Given the description of an element on the screen output the (x, y) to click on. 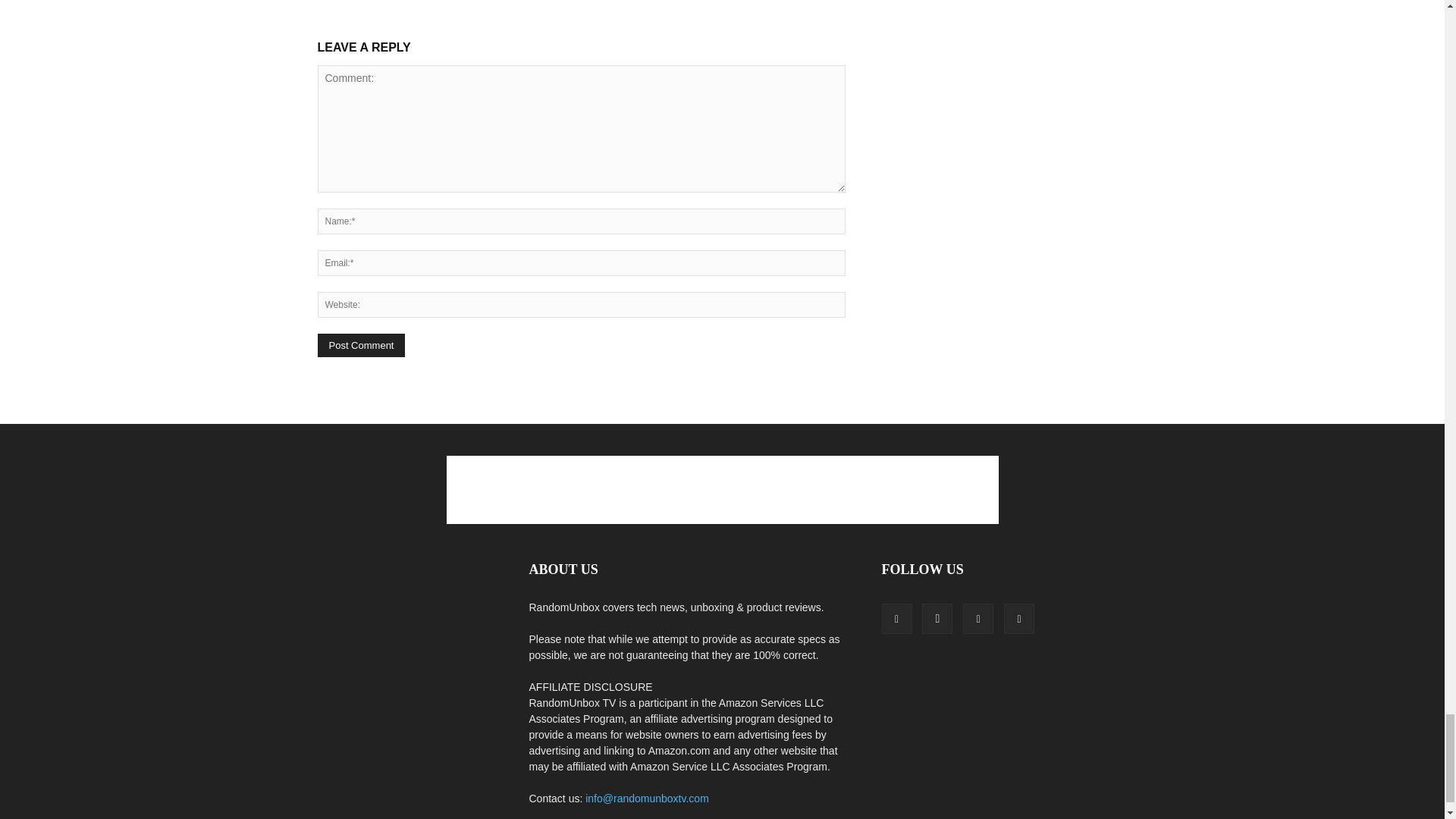
Post Comment (360, 345)
